Given the description of an element on the screen output the (x, y) to click on. 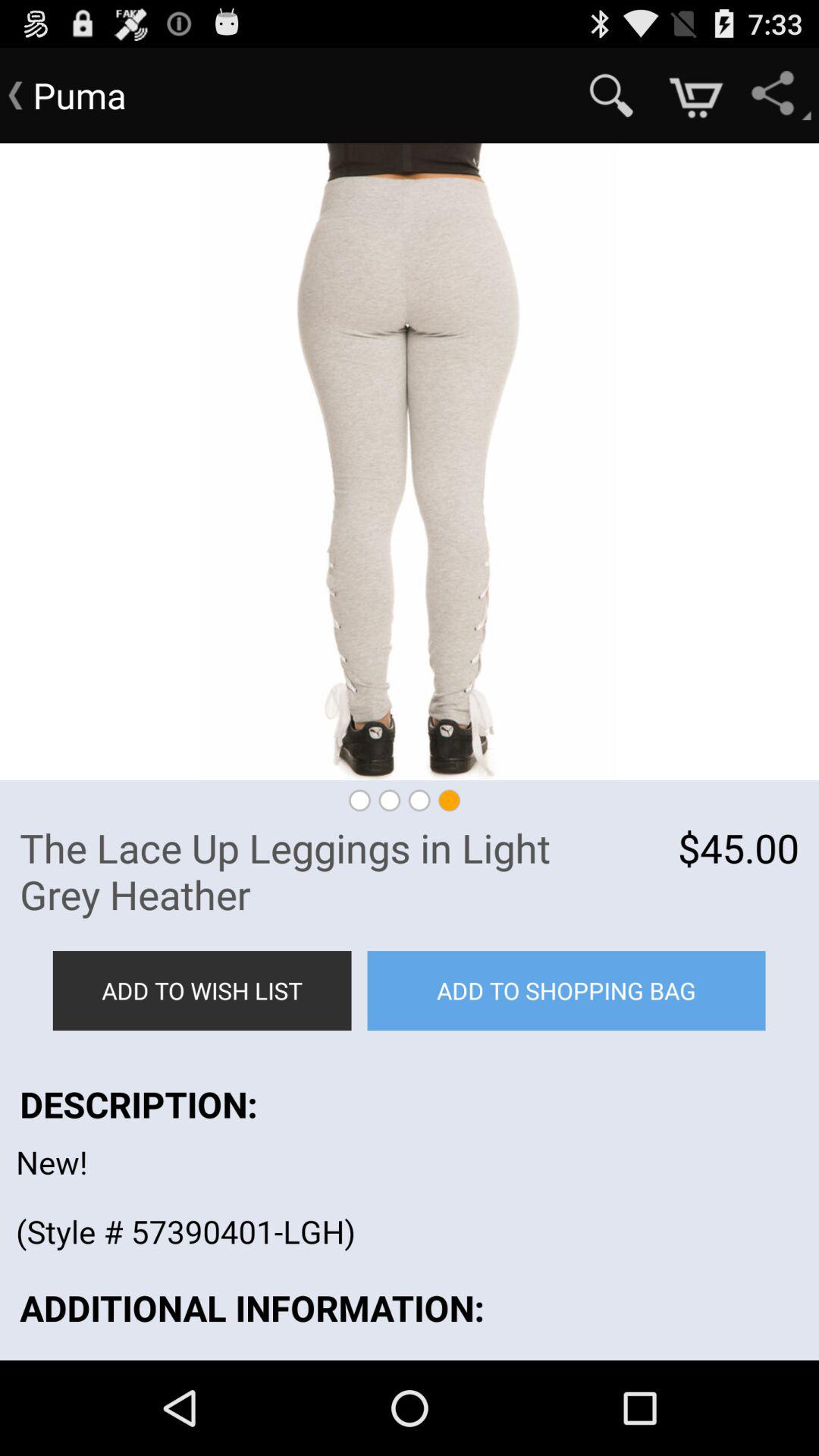
select add to wish list which is before add to shopping bag on the page (202, 990)
click on add to shopping bag button (566, 990)
select the first icon which is right to the text puma (611, 95)
